Given the description of an element on the screen output the (x, y) to click on. 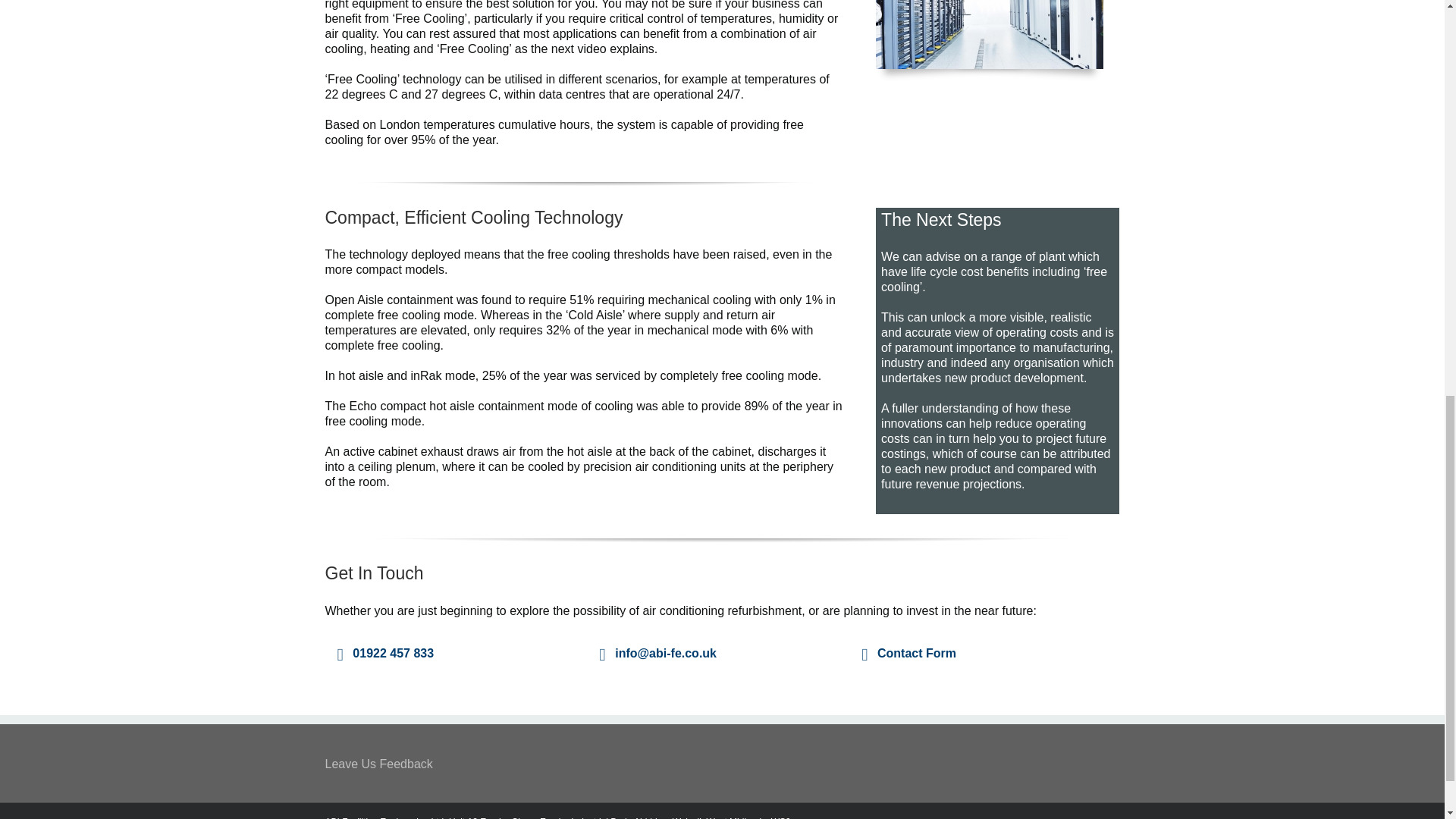
data centre server room (989, 34)
